Given the description of an element on the screen output the (x, y) to click on. 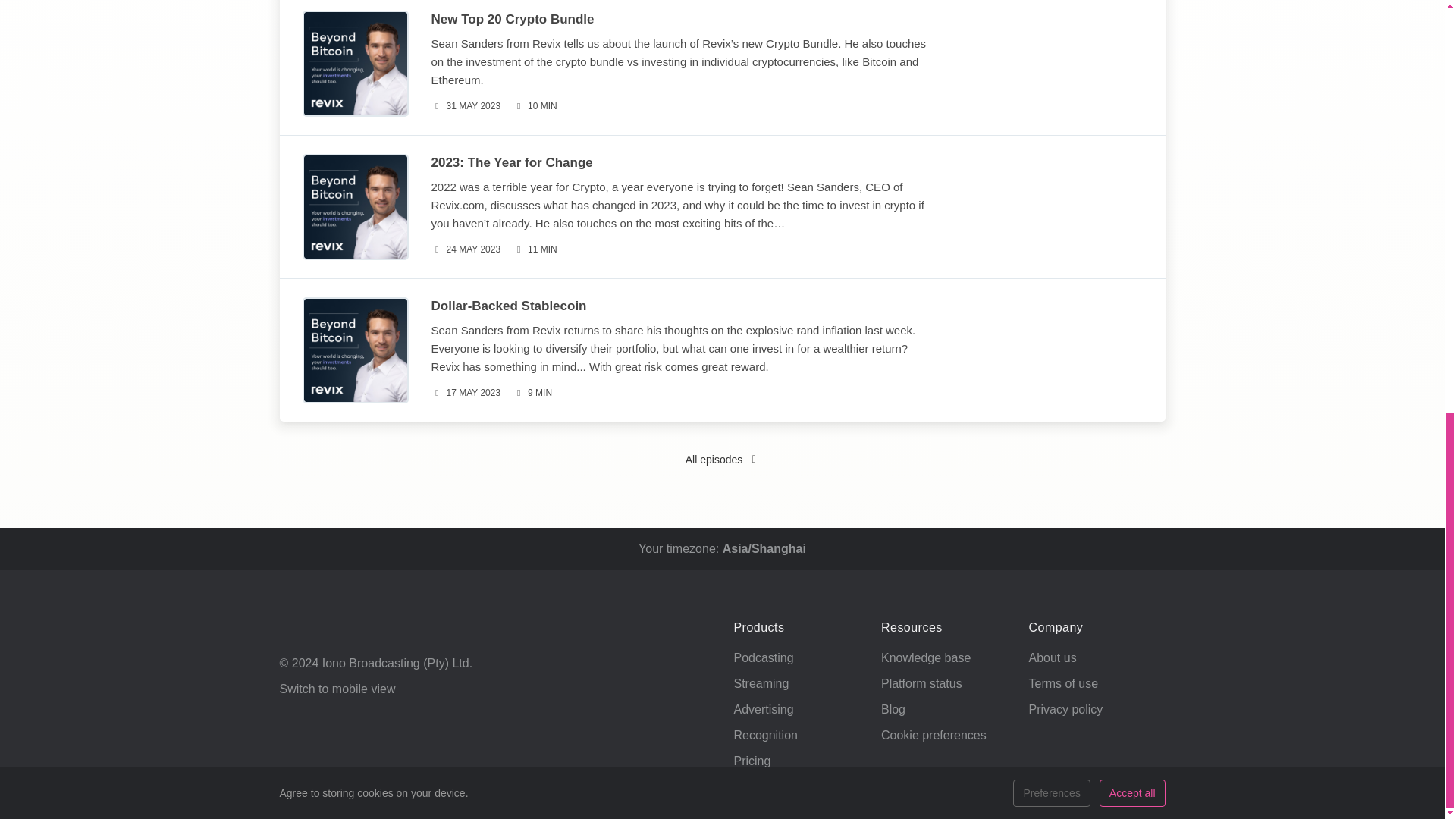
Duration (534, 106)
Published (465, 392)
Published (465, 106)
Duration (531, 392)
Published (465, 249)
Duration (534, 249)
